Given the description of an element on the screen output the (x, y) to click on. 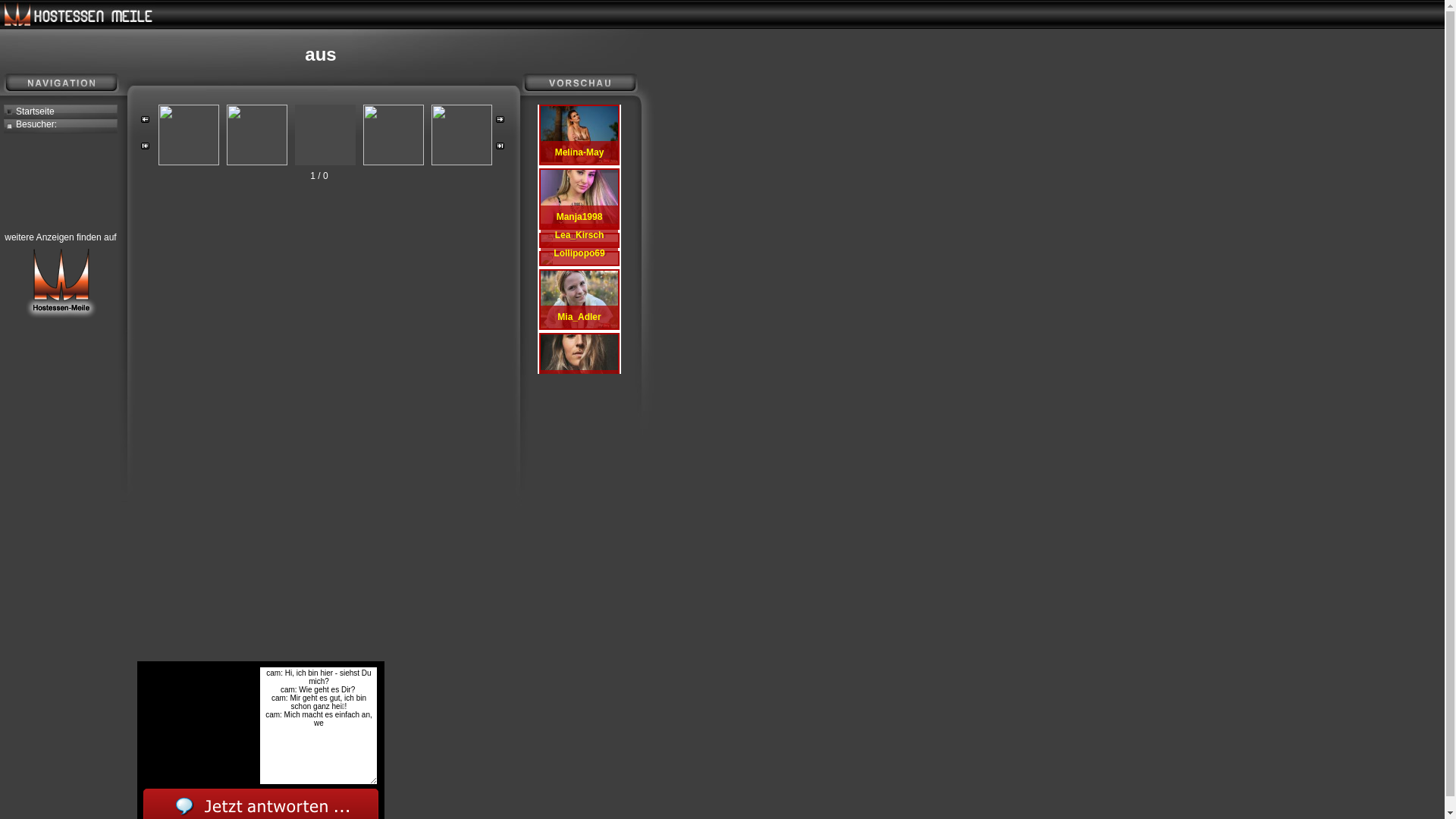
Startseite Element type: text (60, 112)
weitere Anzeigen finden auf Element type: text (60, 276)
